Given the description of an element on the screen output the (x, y) to click on. 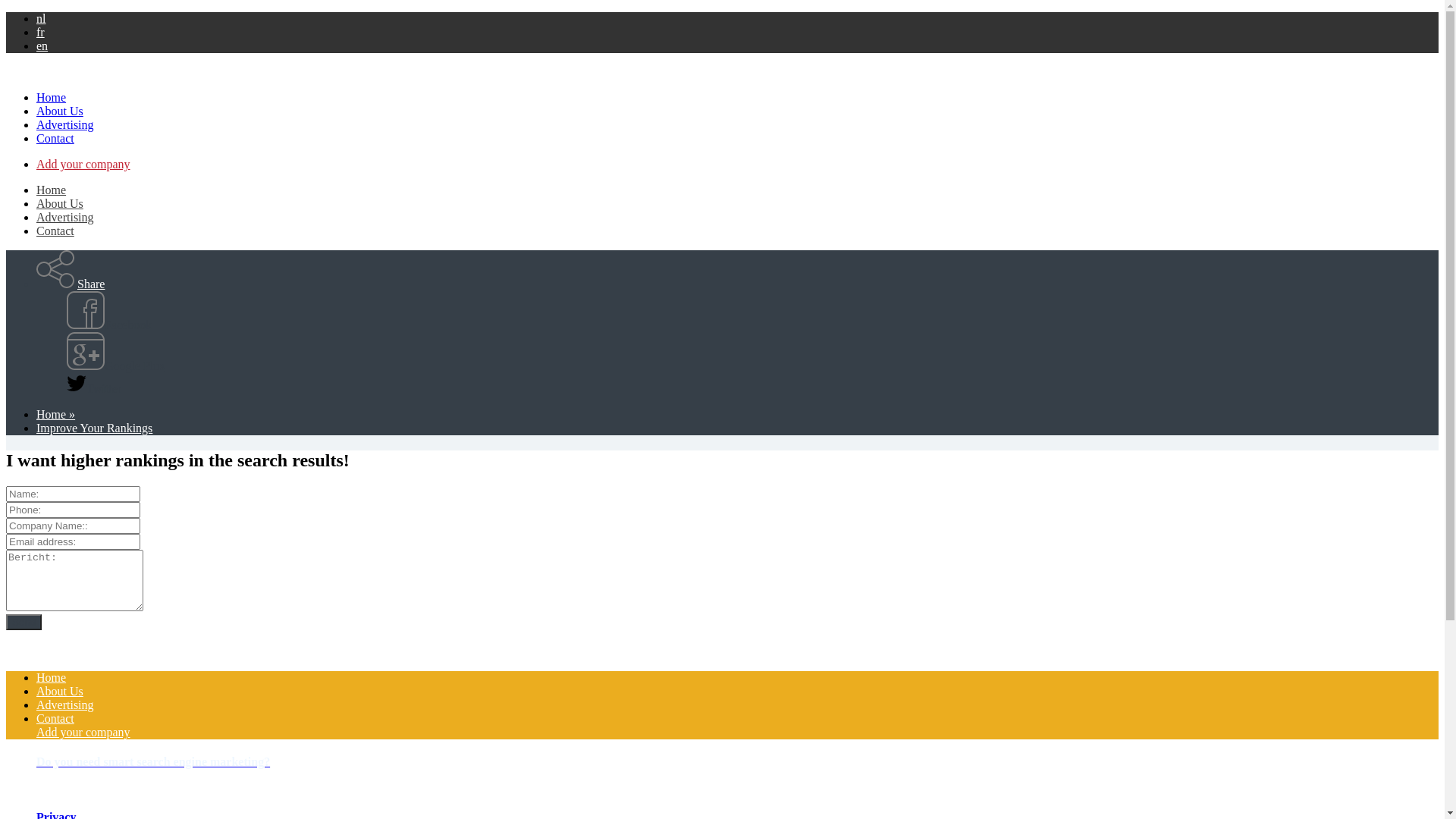
Google Plus Element type: text (115, 365)
Add your company Element type: text (83, 731)
Home Element type: text (50, 97)
Advertising Element type: text (65, 704)
Facebook Element type: text (108, 324)
fr Element type: text (40, 31)
Home Element type: text (50, 677)
Share Element type: text (90, 283)
About Us Element type: text (59, 690)
About Us Element type: text (59, 203)
Improve Your Rankings Element type: text (94, 427)
Send Element type: text (23, 622)
About Us Element type: text (59, 110)
Twitter Element type: text (93, 388)
Contact Element type: text (55, 230)
en Element type: text (41, 45)
Advertising Element type: text (65, 124)
Contact Element type: text (55, 137)
Advertising Element type: text (65, 216)
nl Element type: text (40, 18)
Contact Element type: text (55, 718)
Do you need smart search engine marketing? Element type: text (737, 761)
Add your company Element type: text (83, 163)
Home Element type: text (50, 189)
